Given the description of an element on the screen output the (x, y) to click on. 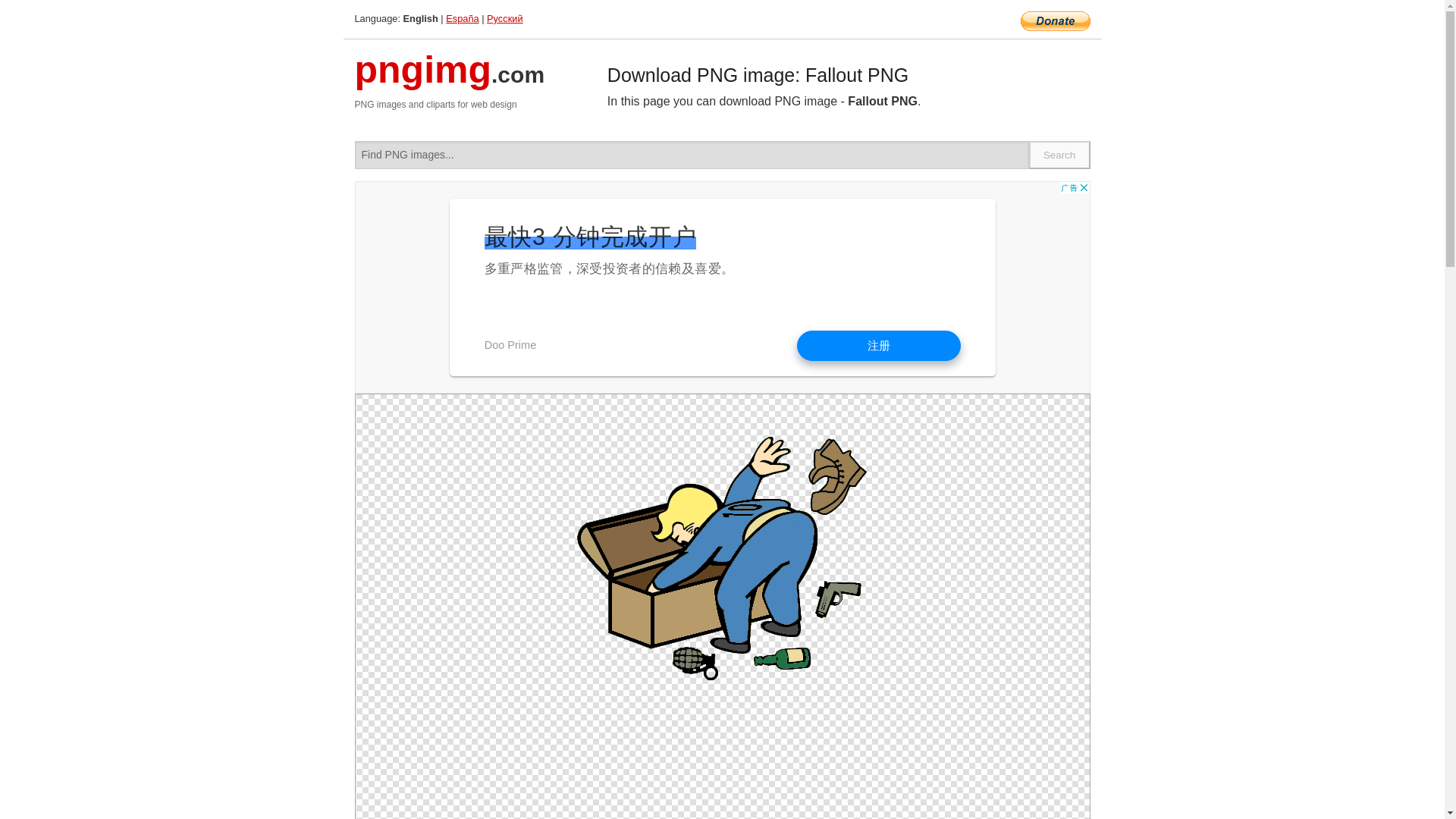
Search (1059, 154)
pngimg.com (449, 78)
Search (1059, 154)
Fallout PNG (721, 560)
